Given the description of an element on the screen output the (x, y) to click on. 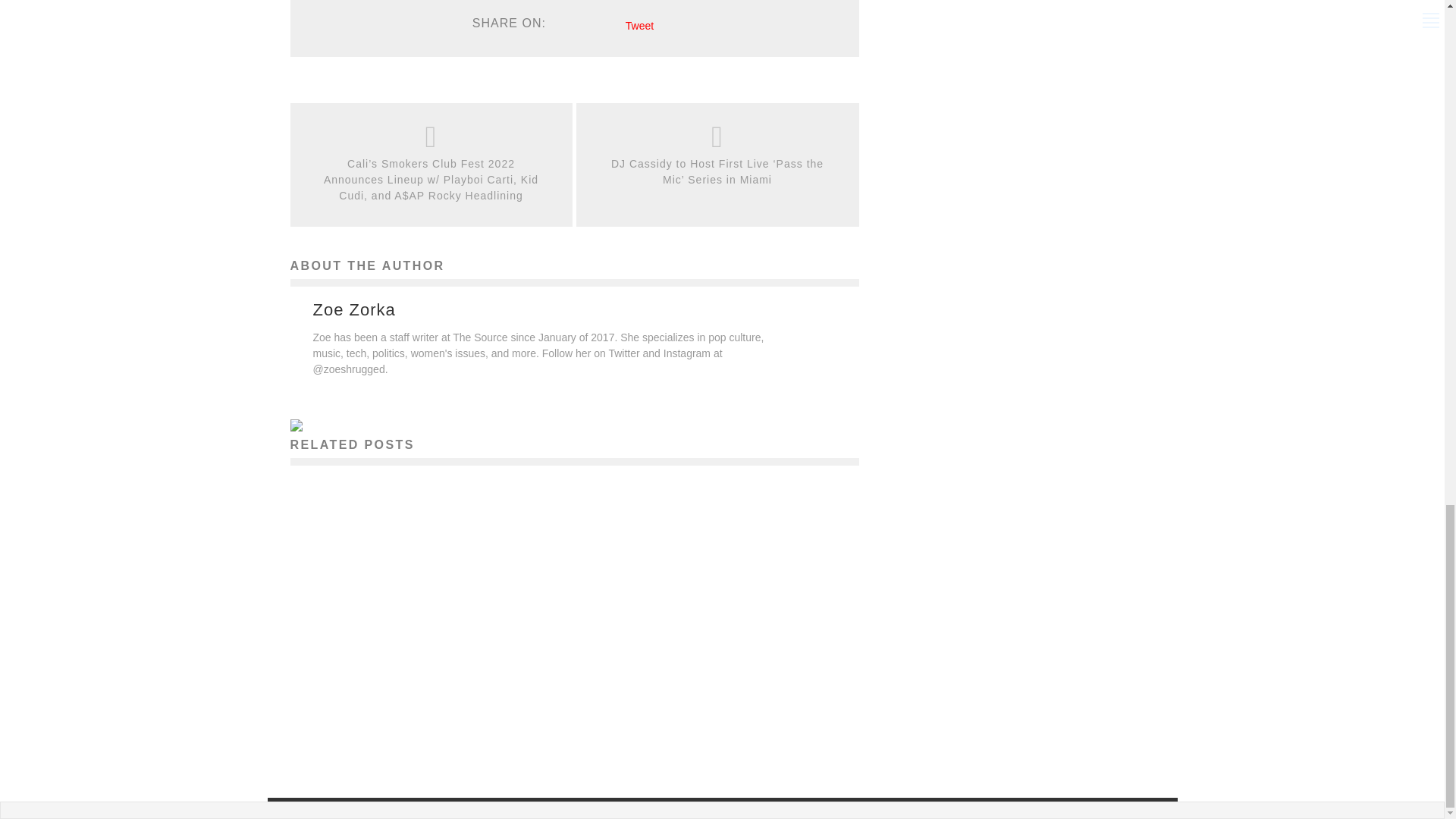
Tweet (639, 25)
Zoe Zorka (381, 731)
Zoe Zorka (353, 310)
